Given the description of an element on the screen output the (x, y) to click on. 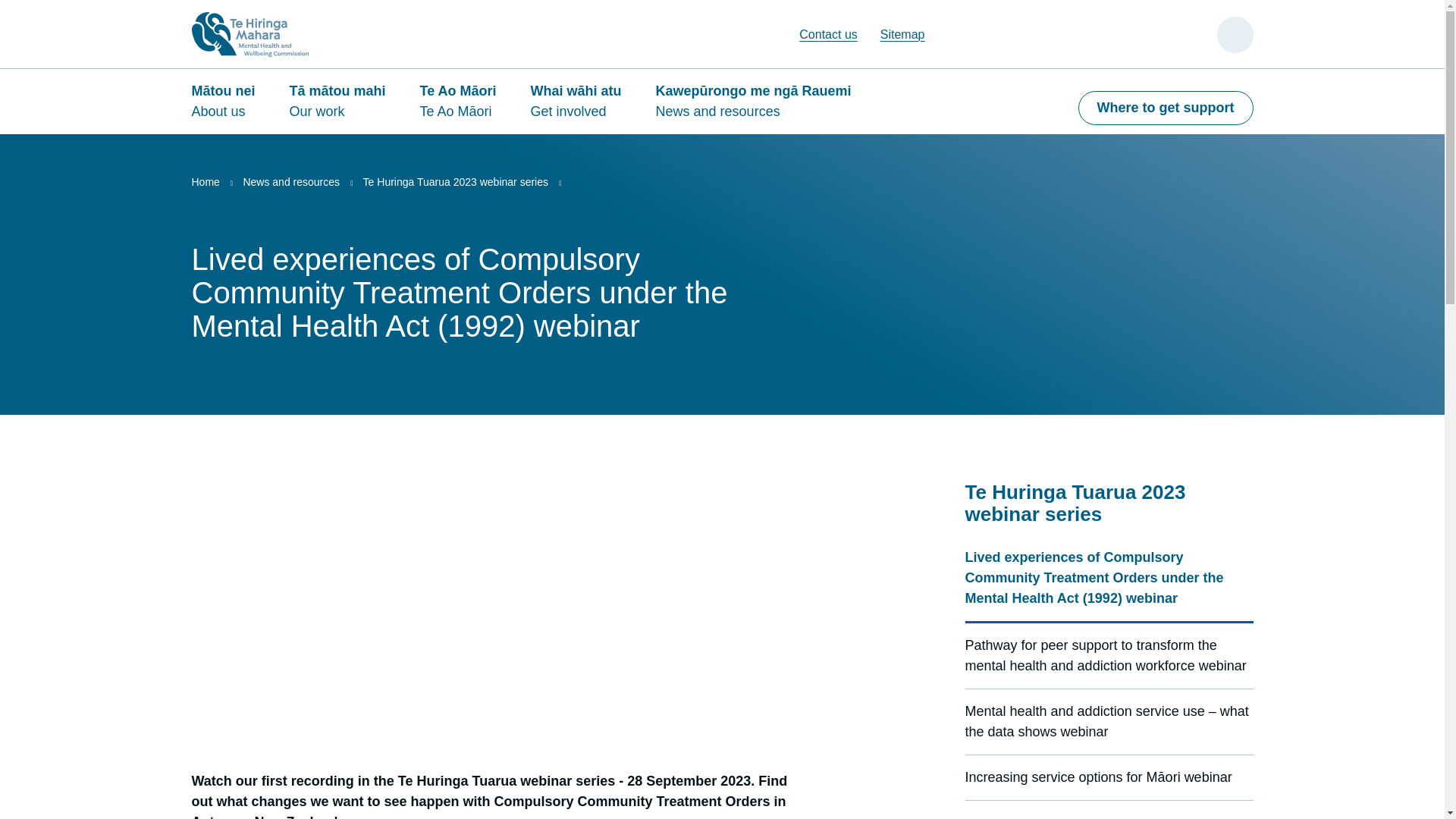
Where to get support (1165, 107)
About us (229, 107)
Sitemap (902, 33)
News and resources (761, 107)
Get involved (584, 107)
Contact us (828, 33)
Our work (345, 107)
